Given the description of an element on the screen output the (x, y) to click on. 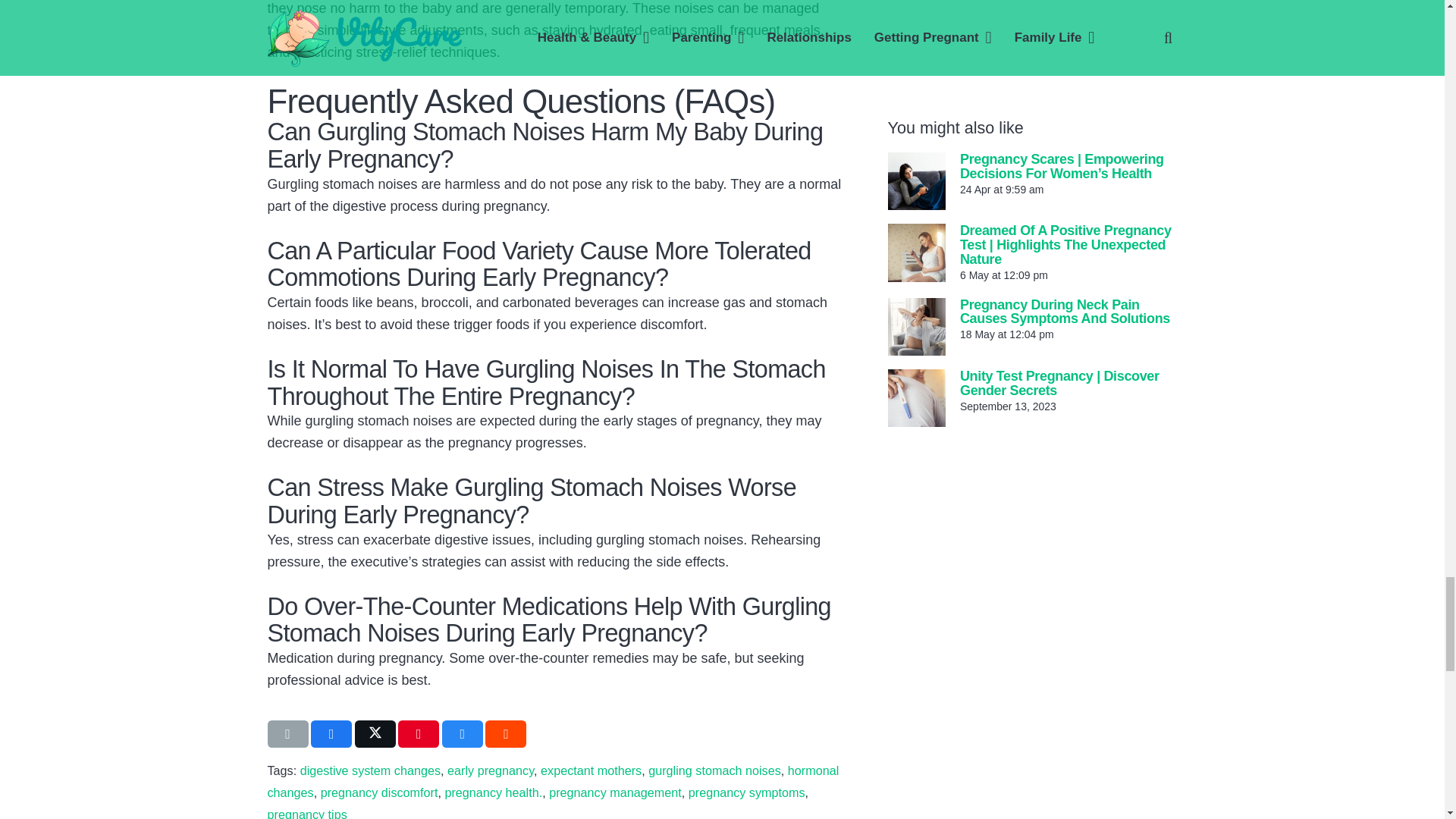
Share this (331, 733)
Email this (286, 733)
